Given the description of an element on the screen output the (x, y) to click on. 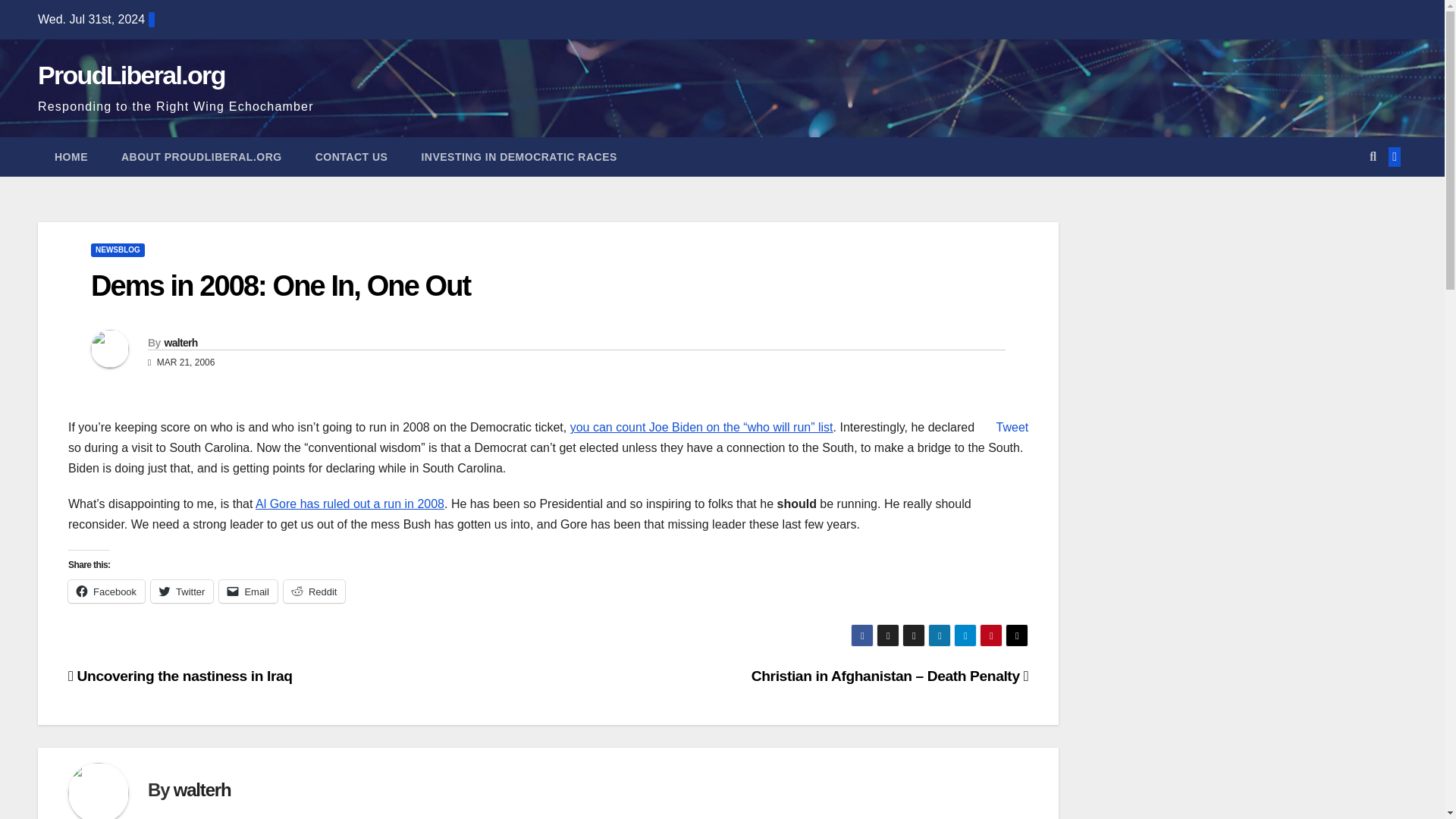
Click to email a link to a friend (248, 590)
Facebook (106, 590)
ABOUT PROUDLIBERAL.ORG (201, 156)
Click to share on Twitter (181, 590)
Permalink to: Dems in 2008: One In, One Out (280, 286)
Al Gore has ruled out a run in 2008 (350, 503)
HOME (70, 156)
ProudLiberal.org (131, 74)
Twitter (181, 590)
CONTACT US (351, 156)
Click to share on Reddit (314, 590)
INVESTING IN DEMOCRATIC RACES (518, 156)
NEWSBLOG (117, 250)
Home (70, 156)
Tweet (1012, 427)
